Given the description of an element on the screen output the (x, y) to click on. 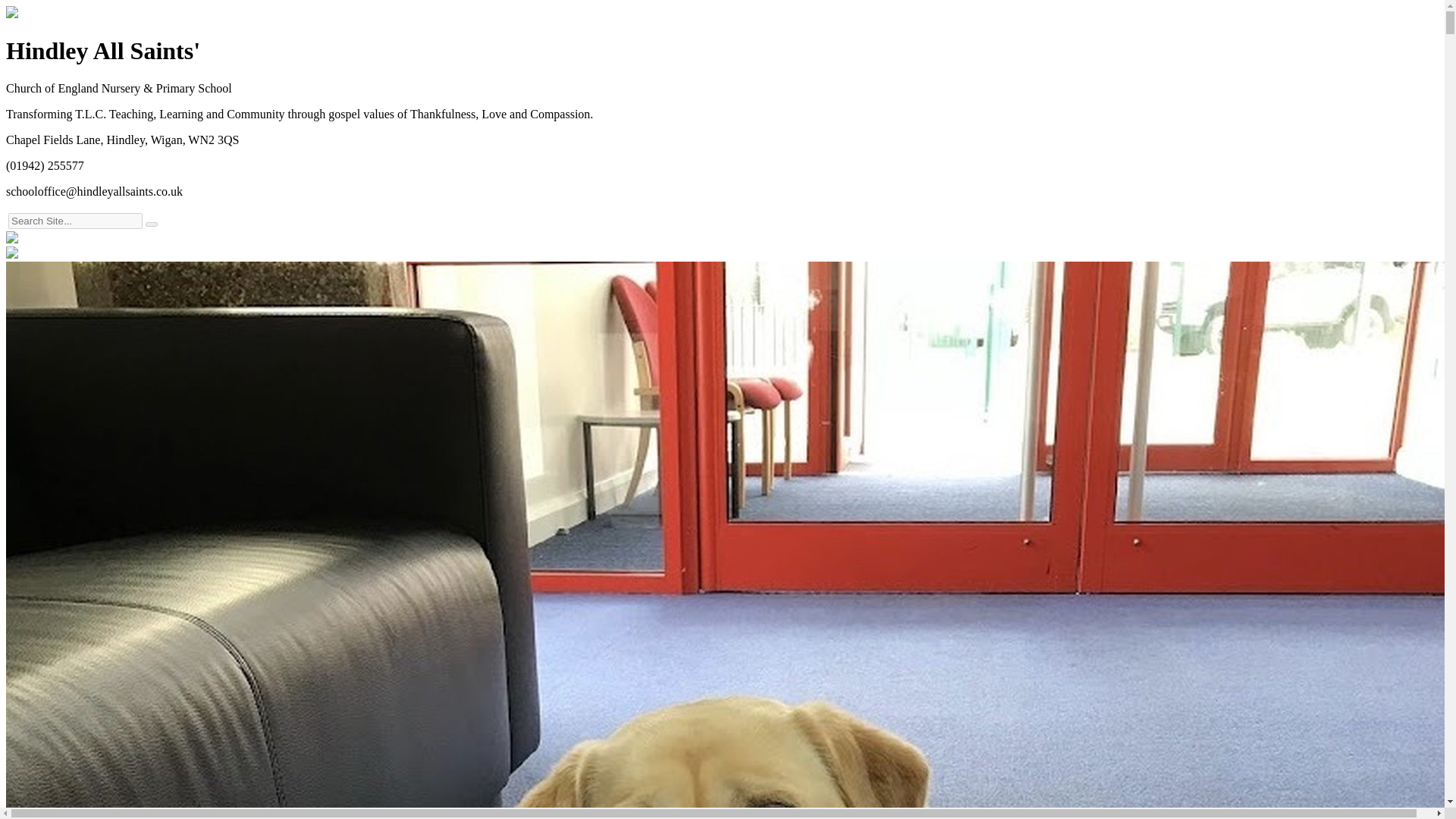
Search (151, 223)
